Given the description of an element on the screen output the (x, y) to click on. 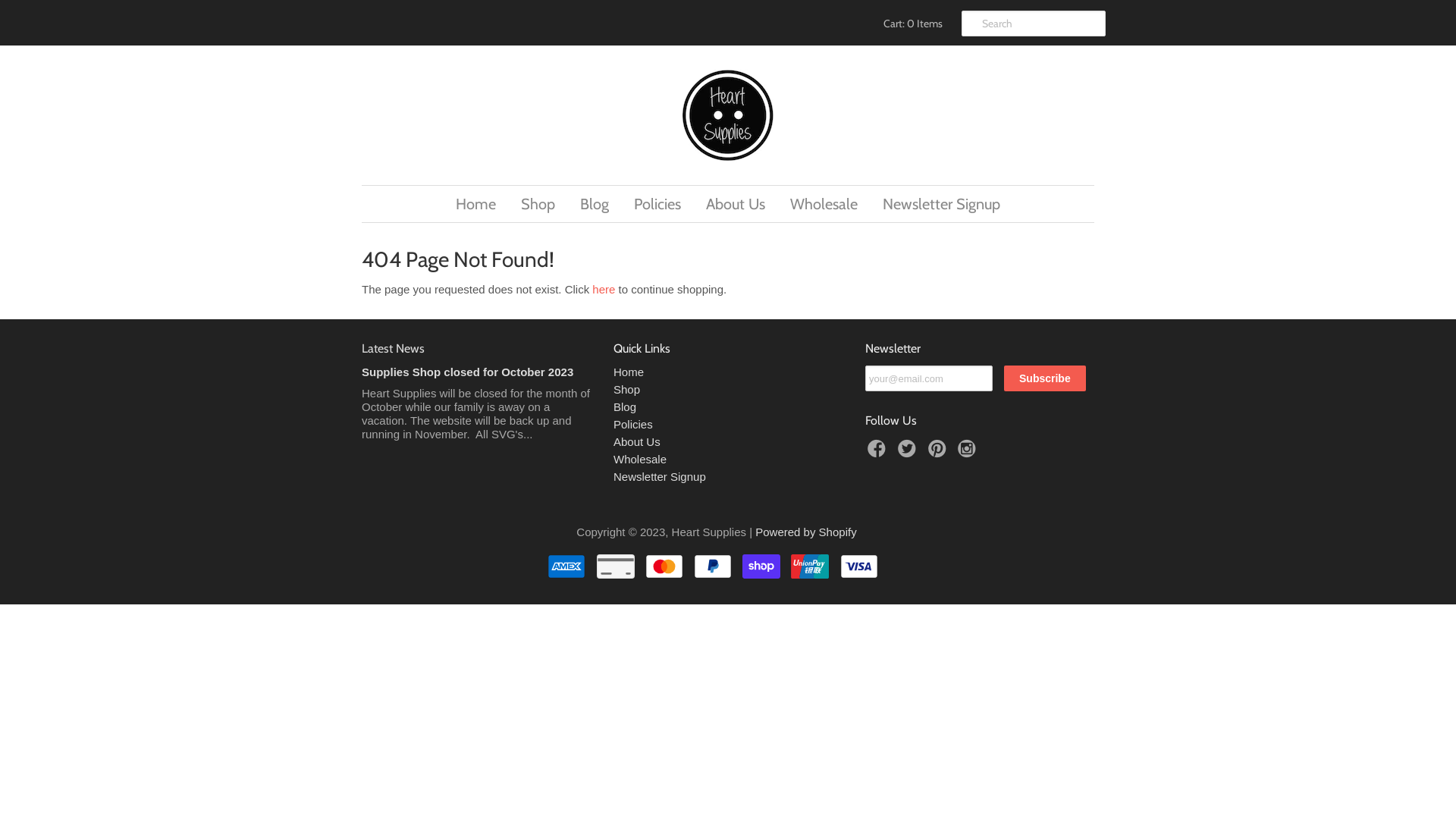
Blog Element type: text (594, 203)
Blog Element type: text (624, 406)
Wholesale Element type: text (639, 458)
Wholesale Element type: text (823, 203)
Supplies Shop closed for October 2023 Element type: text (467, 371)
Follow us on Instagram! Element type: hover (968, 452)
Home Element type: text (475, 203)
Follow us on Facebook! Element type: hover (878, 452)
Follow us on Pinterest! Element type: hover (939, 452)
Cart: 0 Items Element type: text (910, 23)
Home Element type: text (628, 371)
Shop Element type: text (626, 388)
Shop Element type: text (537, 203)
Policies Element type: text (657, 203)
Subscribe Element type: text (1044, 378)
Latest News Element type: text (392, 348)
About Us Element type: text (636, 441)
here Element type: text (603, 288)
Newsletter Signup Element type: text (941, 203)
Policies Element type: text (632, 423)
Newsletter Signup Element type: text (659, 476)
About Us Element type: text (735, 203)
Powered by Shopify Element type: text (805, 531)
Follow us on Twitter! Element type: hover (908, 452)
